Given the description of an element on the screen output the (x, y) to click on. 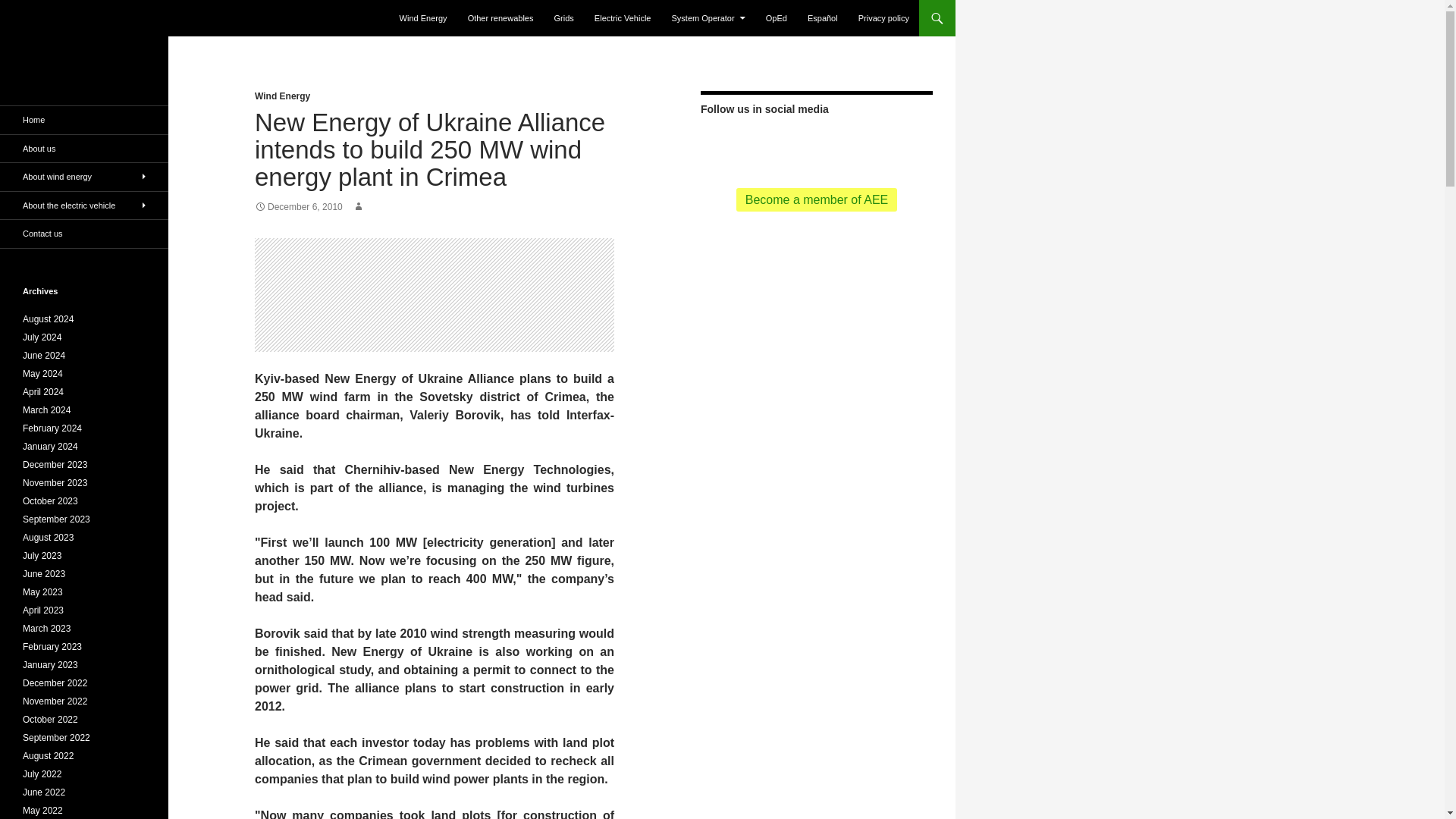
flickr (816, 143)
youtube (792, 143)
Electric Vehicle (623, 18)
Tiktok (840, 143)
December 6, 2010 (298, 206)
Grids (563, 18)
Other renewables (500, 18)
RSS (719, 143)
facebook (767, 143)
twitter (743, 143)
OpEd (776, 18)
System Operator (708, 18)
Become a member of AEE (817, 199)
Wind Energy (282, 95)
Privacy policy (883, 18)
